Given the description of an element on the screen output the (x, y) to click on. 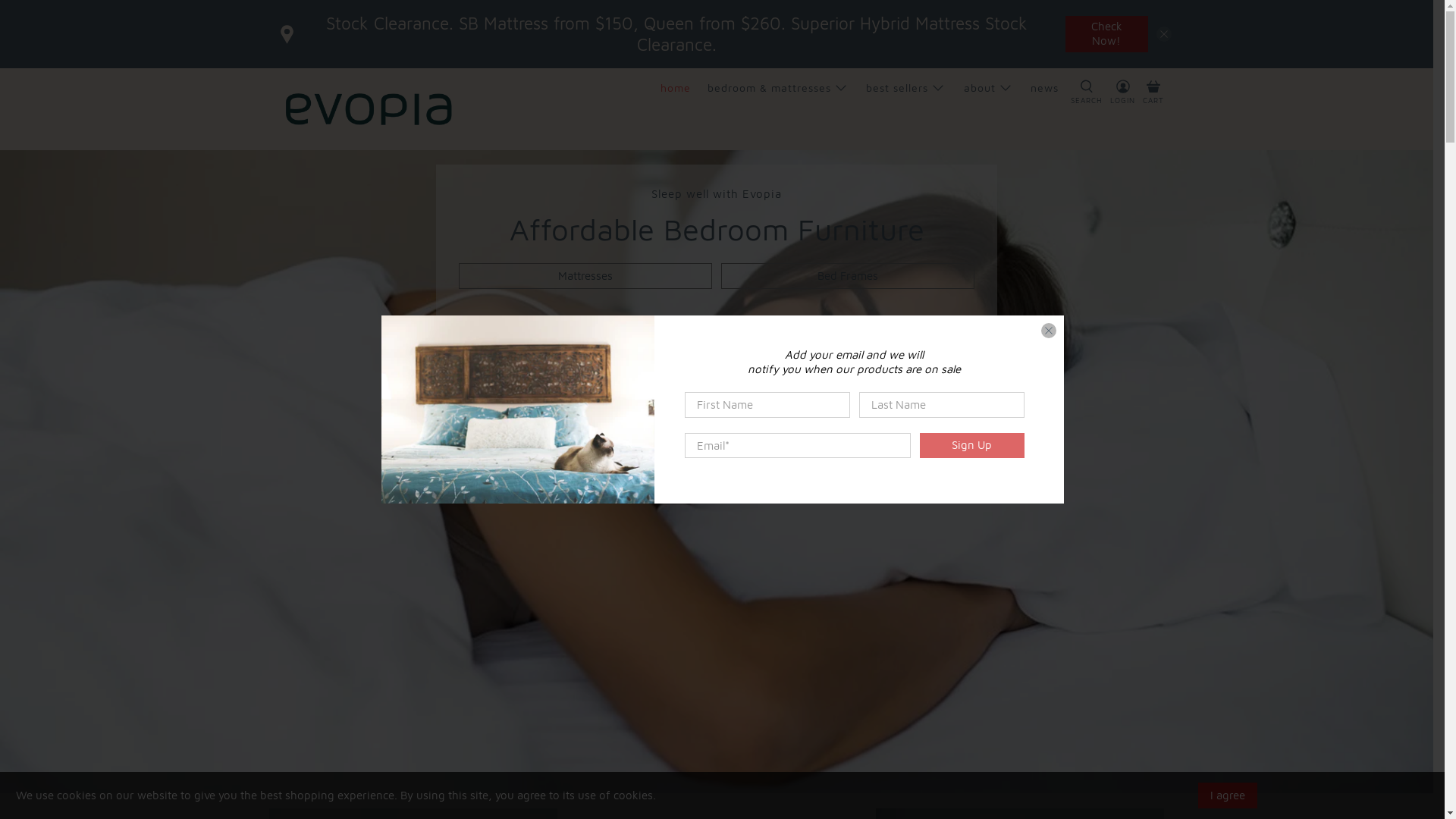
Check Now! Element type: text (1106, 34)
LOGIN Element type: text (1122, 109)
news Element type: text (1044, 87)
Bed Frames Element type: text (847, 275)
best sellers Element type: text (905, 87)
CART Element type: text (1153, 92)
Mattresses Element type: text (585, 275)
I agree Element type: text (1227, 795)
SEARCH Element type: text (1086, 109)
home Element type: text (675, 87)
Sign Up Element type: text (971, 445)
Evopia Element type: hover (368, 108)
bedroom & mattresses Element type: text (778, 87)
about Element type: text (987, 87)
